Given the description of an element on the screen output the (x, y) to click on. 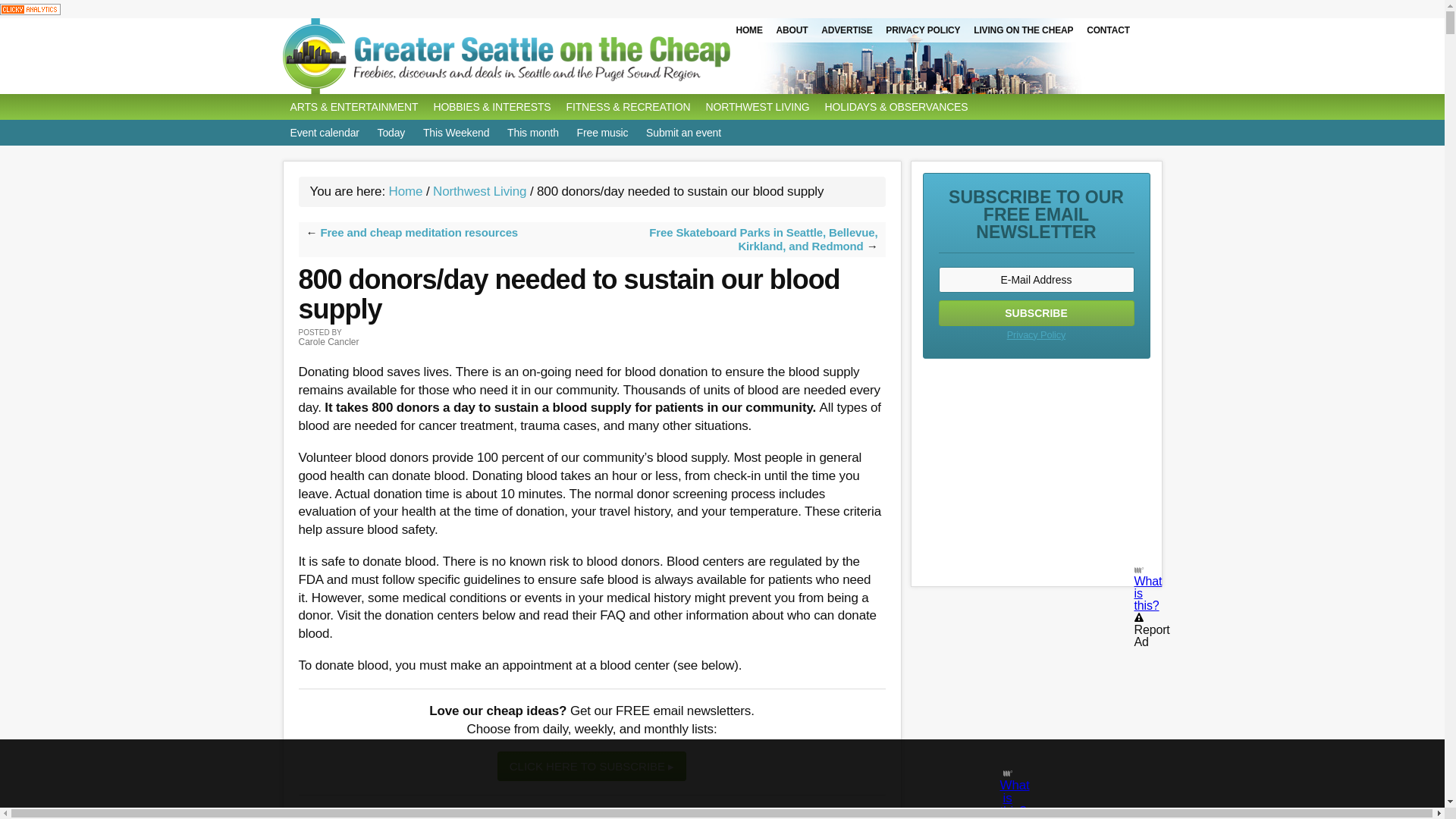
PRIVACY POLICY (922, 30)
Greater Seattle on the Cheap (536, 56)
3rd party ad content (1035, 468)
ADVERTISE (846, 30)
Web Analytics (30, 8)
CONTACT (1108, 30)
ABOUT (792, 30)
Subscribe (1036, 312)
3rd party ad content (590, 813)
HOME (748, 30)
LIVING ON THE CHEAP (1023, 30)
